Given the description of an element on the screen output the (x, y) to click on. 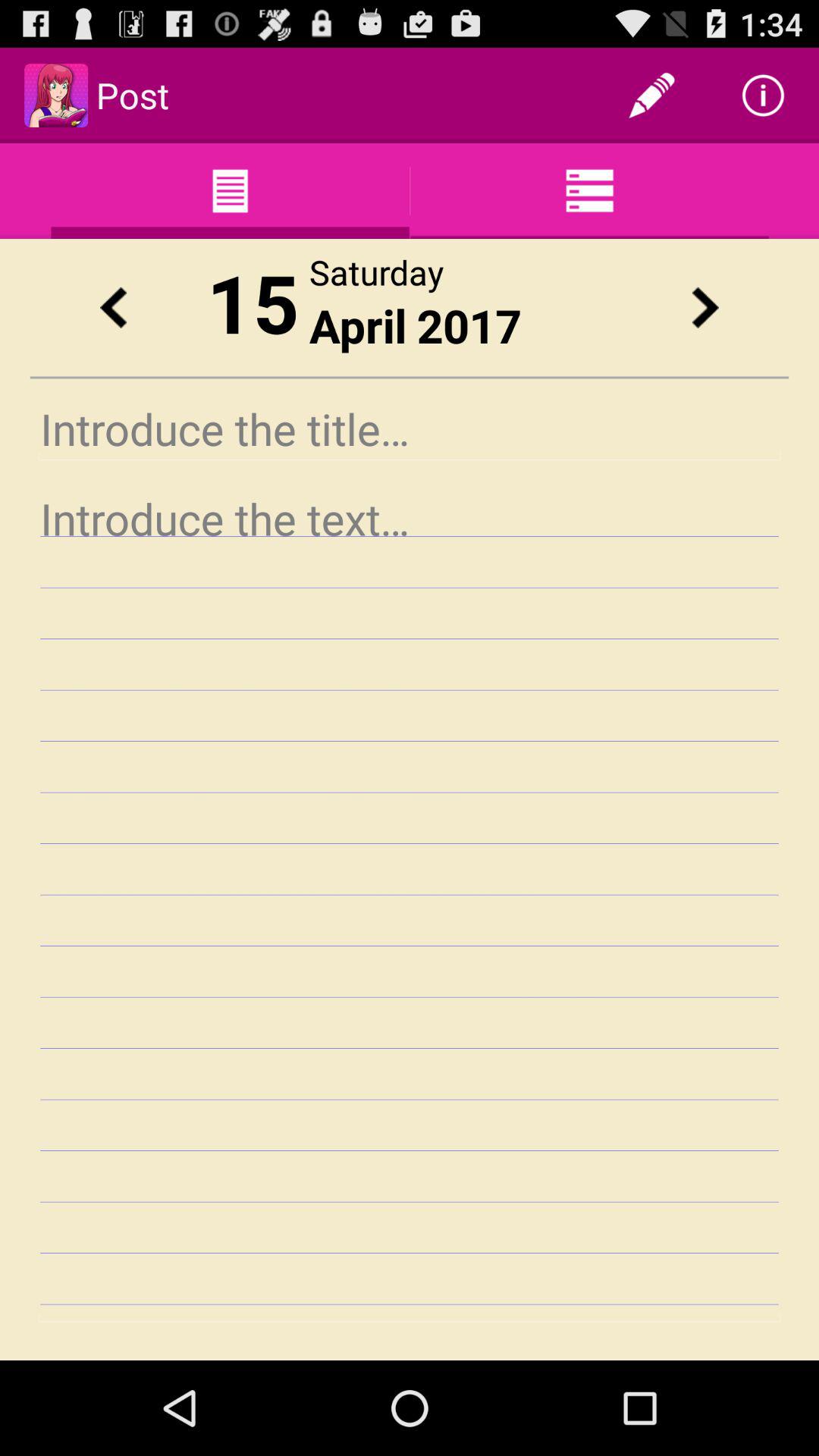
nexy arrow (704, 307)
